Given the description of an element on the screen output the (x, y) to click on. 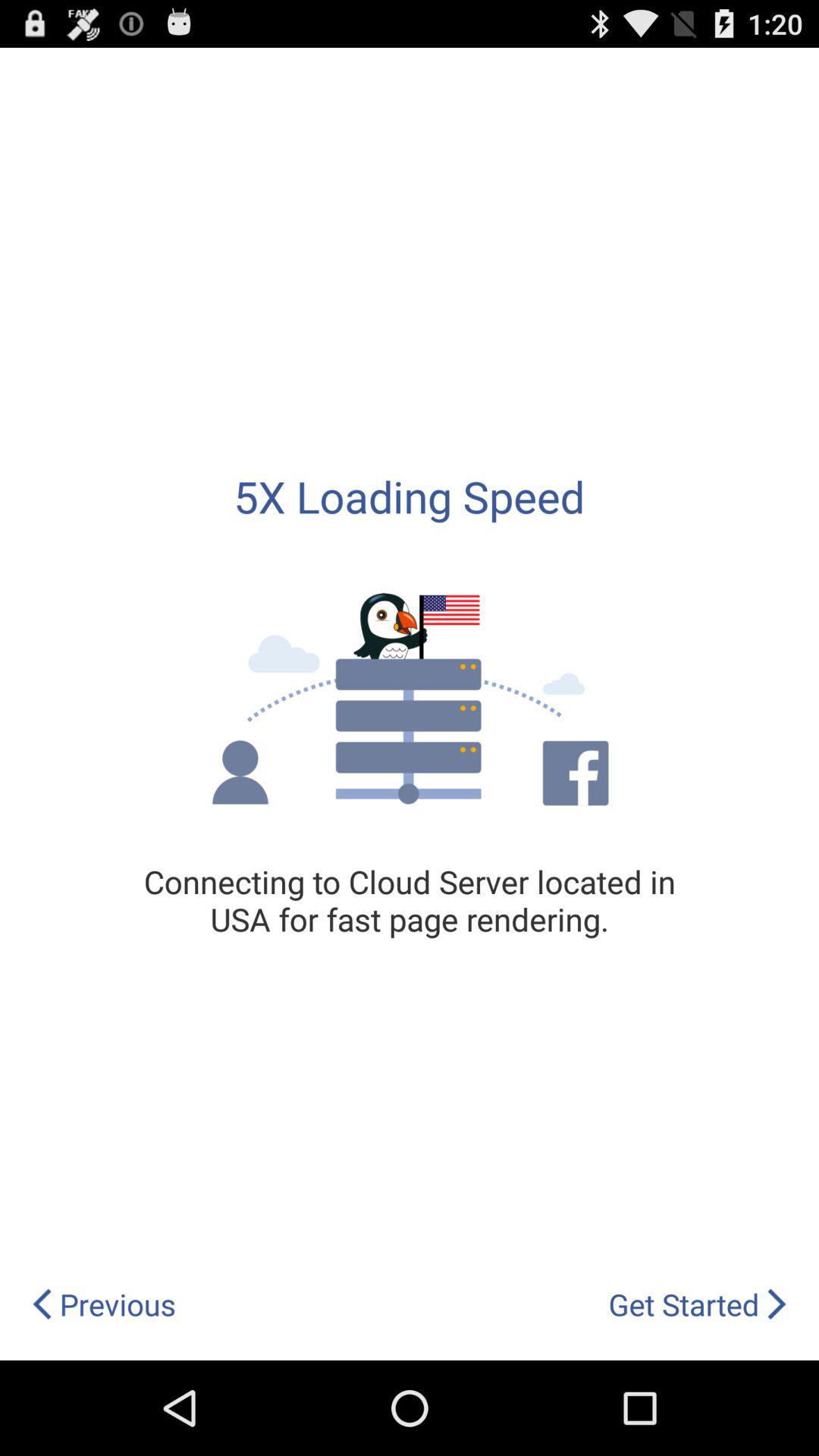
press previous icon (103, 1304)
